Given the description of an element on the screen output the (x, y) to click on. 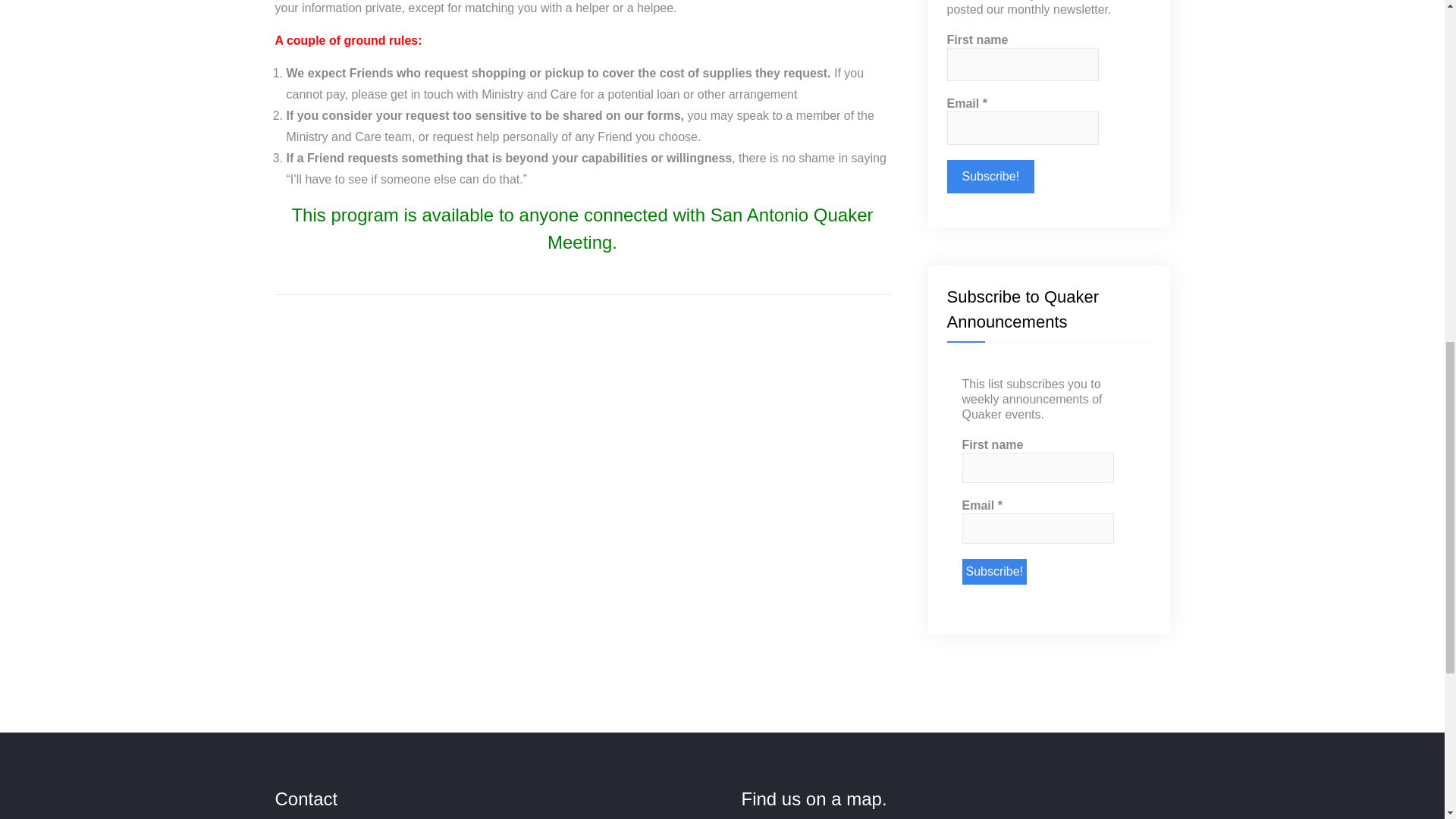
Email (1021, 127)
First name (1021, 64)
First name (1036, 467)
Email (1036, 528)
Subscribe! (993, 571)
Subscribe! (989, 176)
